Given the description of an element on the screen output the (x, y) to click on. 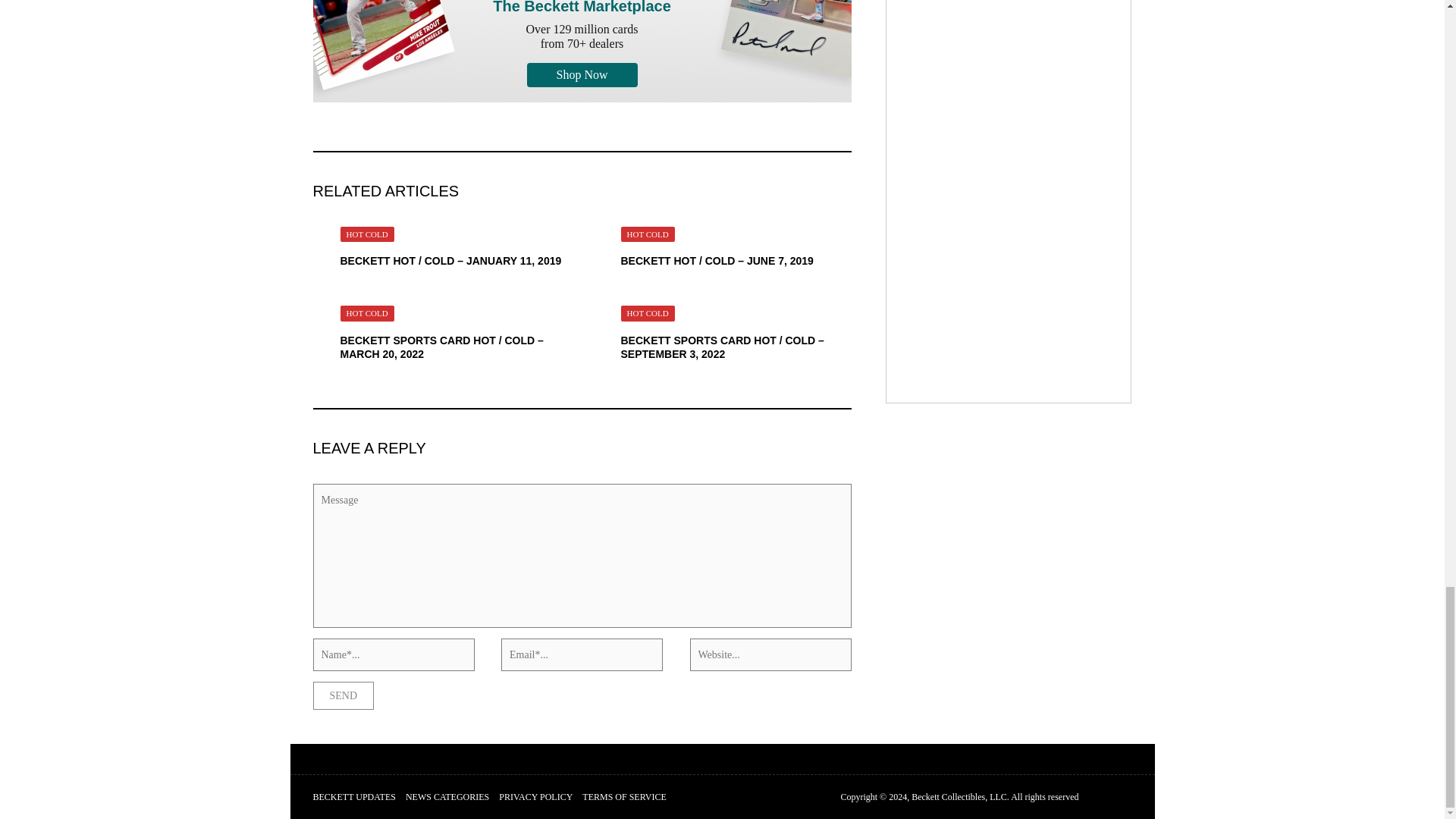
Send (343, 695)
